Given the description of an element on the screen output the (x, y) to click on. 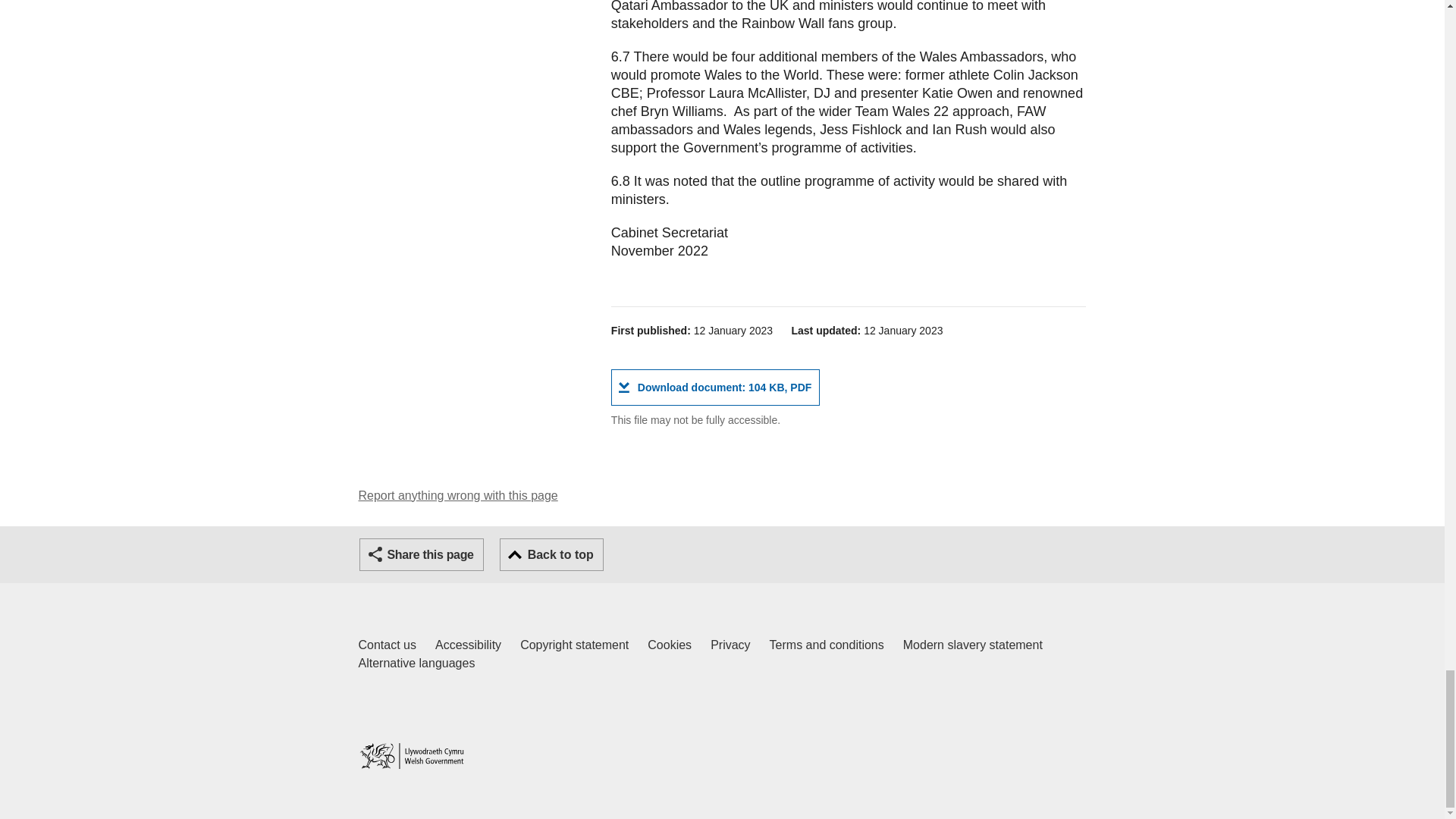
Accessibility (467, 645)
Cookies (386, 645)
Privacy (669, 645)
Report anything wrong with this page (715, 387)
Alternative languages (729, 645)
Terms and conditions (457, 495)
Copyright statement (416, 663)
Modern slavery statement (826, 645)
Back to top (573, 645)
Share this page (972, 645)
Home (551, 554)
